Given the description of an element on the screen output the (x, y) to click on. 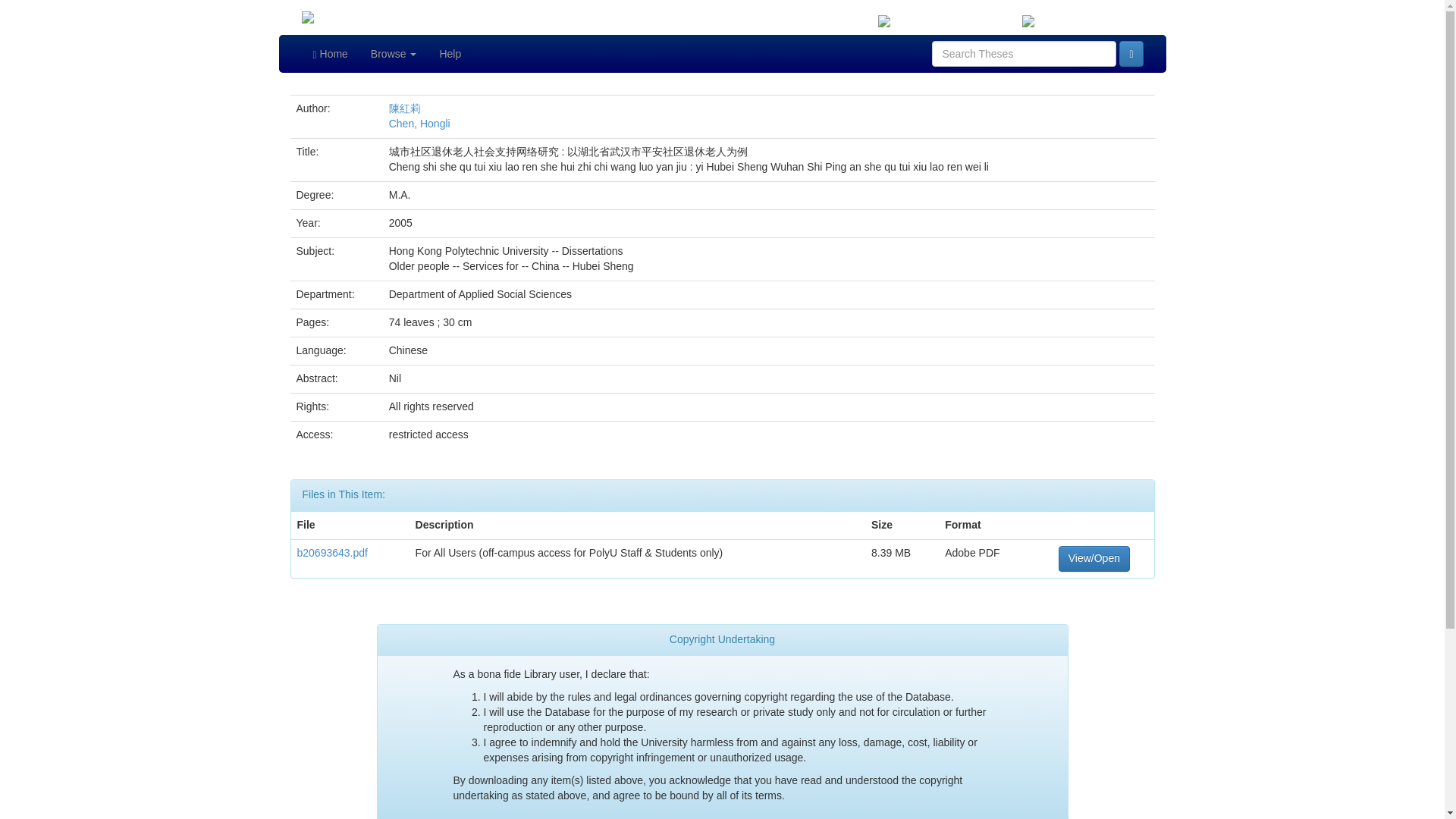
Browse (393, 53)
b20693643.pdf (332, 552)
Home (330, 53)
Chen, Hongli (418, 123)
Help (449, 53)
